Given the description of an element on the screen output the (x, y) to click on. 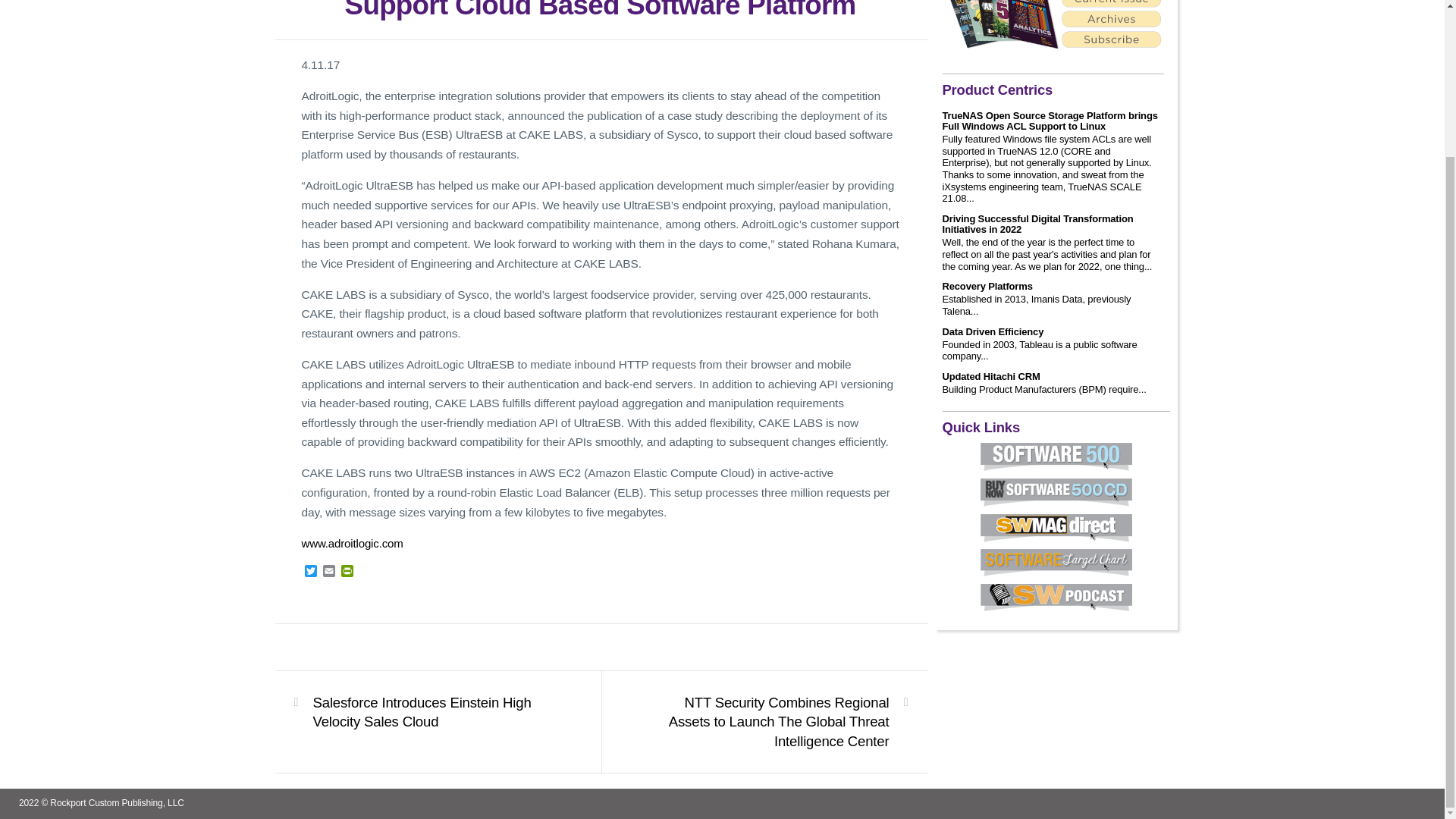
Salesforce Introduces Einstein High Velocity Sales Cloud (428, 712)
www.adroitlogic.com (352, 543)
Twitter (310, 572)
Email (328, 572)
Recovery Platforms (987, 286)
Email (328, 572)
Data Driven Efficiency (992, 331)
Next (773, 721)
Previous (428, 712)
Updated Hitachi CRM (990, 376)
Twitter (310, 572)
PrintFriendly (346, 572)
